Given the description of an element on the screen output the (x, y) to click on. 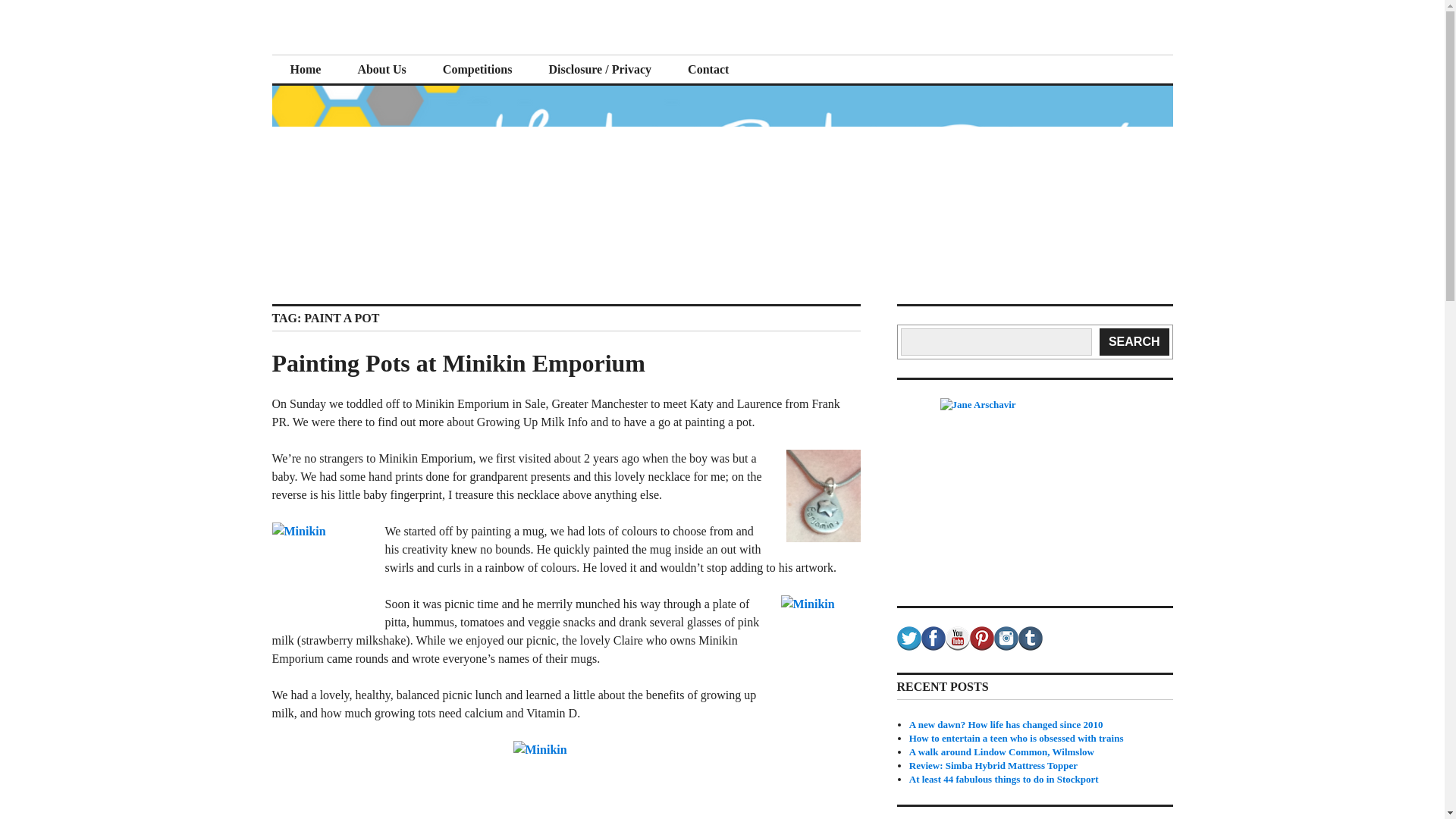
Review: Simba Hybrid Mattress Topper (992, 765)
How to entertain a teen who is obsessed with trains (1016, 737)
SEARCH (1134, 341)
HodgePodgeDays (384, 53)
Home (304, 69)
At least 44 fabulous things to do in Stockport (1003, 778)
Painting Pots at Minikin Emporium (457, 362)
Competitions (478, 69)
A walk around Lindow Common, Wilmslow (1001, 751)
About Us (381, 69)
A new dawn? How life has changed since 2010 (1005, 724)
Contact (707, 69)
